Given the description of an element on the screen output the (x, y) to click on. 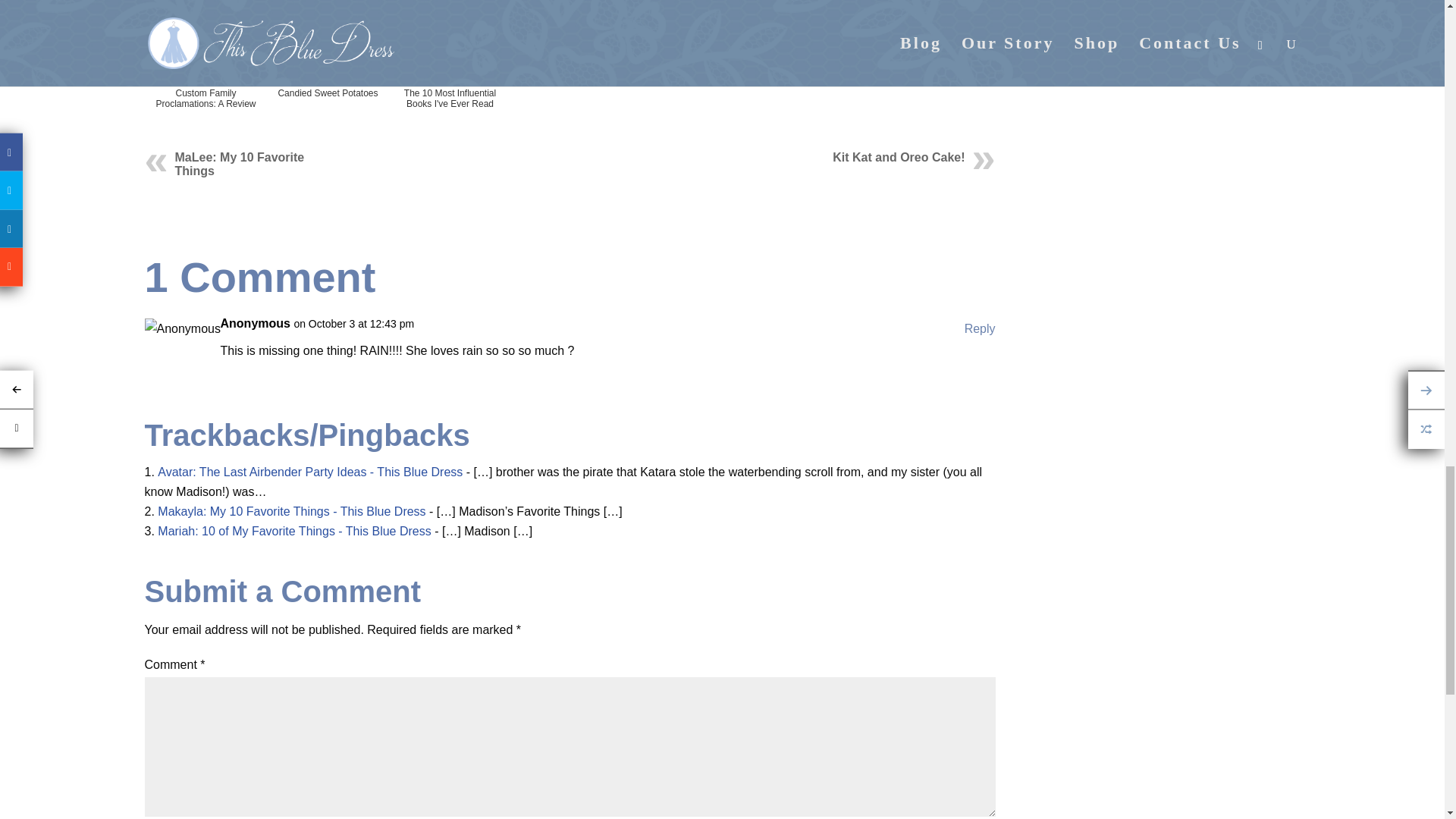
Mariah: 10 of My Favorite Things - This Blue Dress (293, 530)
Reply (979, 328)
Makayla: My 10 Favorite Things - This Blue Dress (291, 511)
Avatar: The Last Airbender Party Ideas - This Blue Dress (310, 472)
MaLee: My 10 Favorite Things (239, 163)
Kit Kat and Oreo Cake! (897, 156)
